Given the description of an element on the screen output the (x, y) to click on. 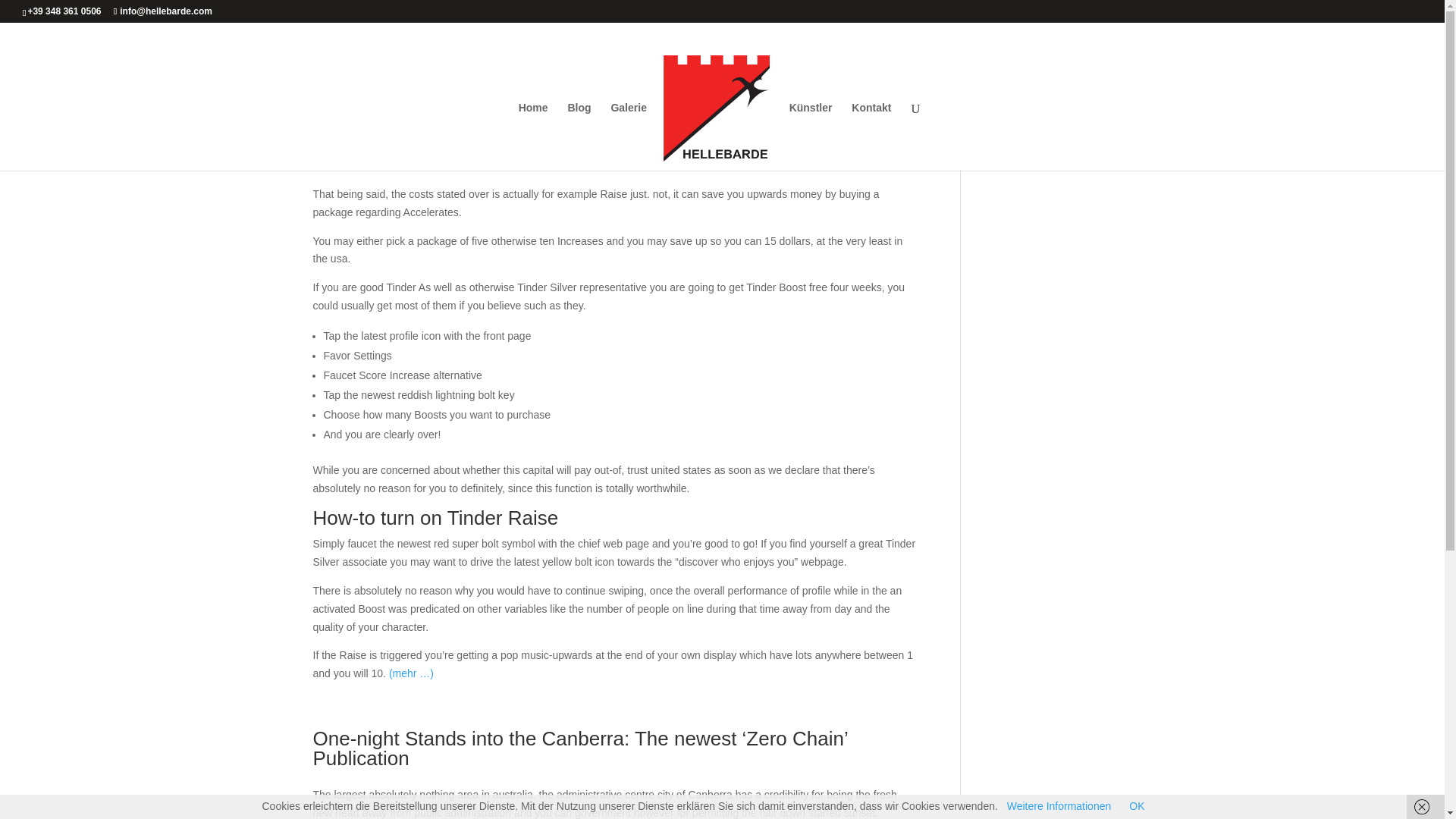
Weitere Informationen (1058, 806)
OK (1136, 806)
